Given the description of an element on the screen output the (x, y) to click on. 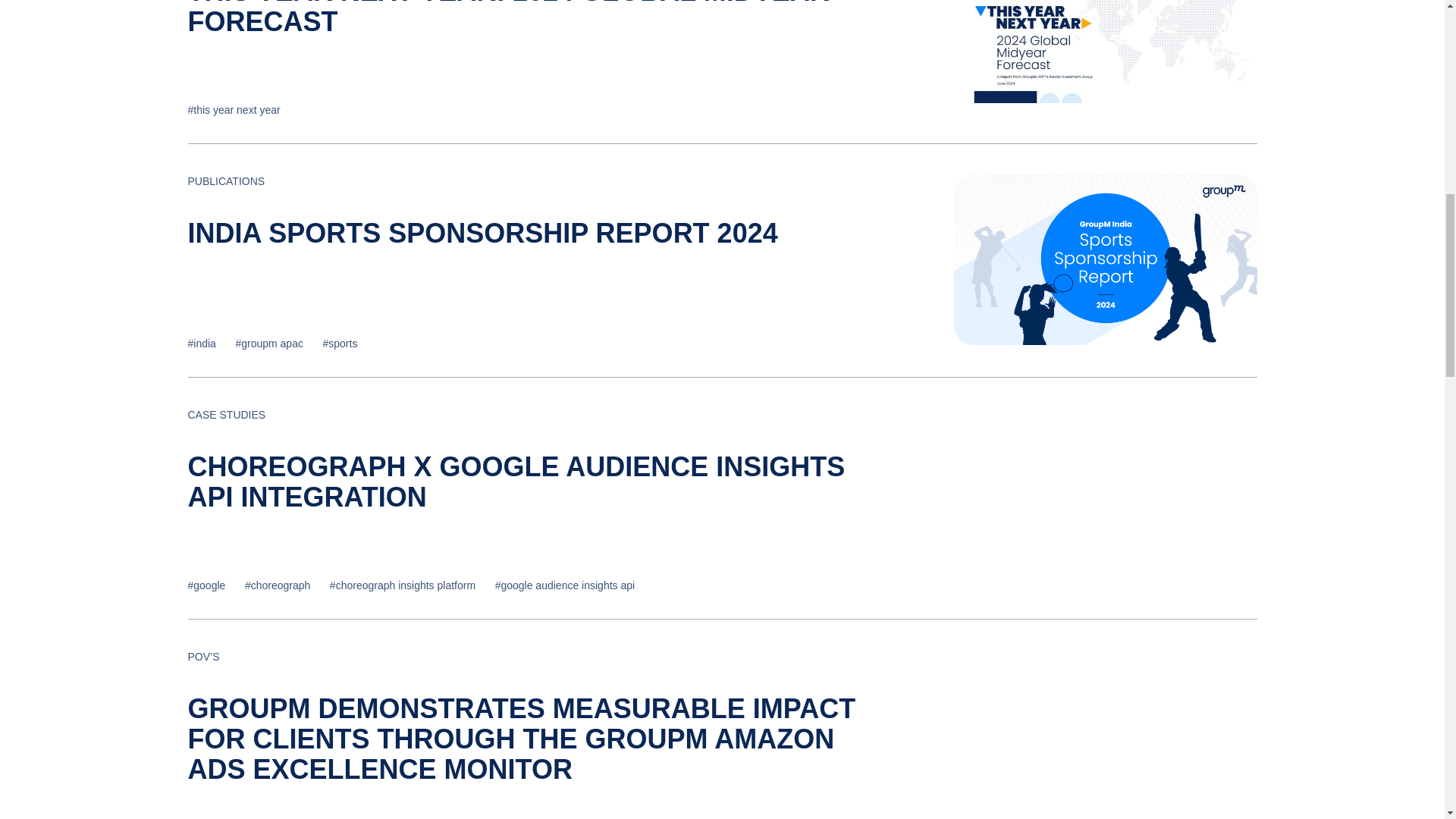
INDIA SPORTS SPONSORSHIP REPORT 2024 (482, 232)
PUBLICATIONS (230, 181)
CASE STUDIES (230, 414)
THIS YEAR NEXT YEAR: 2024 GLOBAL MIDYEAR FORECAST (508, 18)
CHOREOGRAPH X GOOGLE AUDIENCE INSIGHTS API INTEGRATION (516, 481)
